Given the description of an element on the screen output the (x, y) to click on. 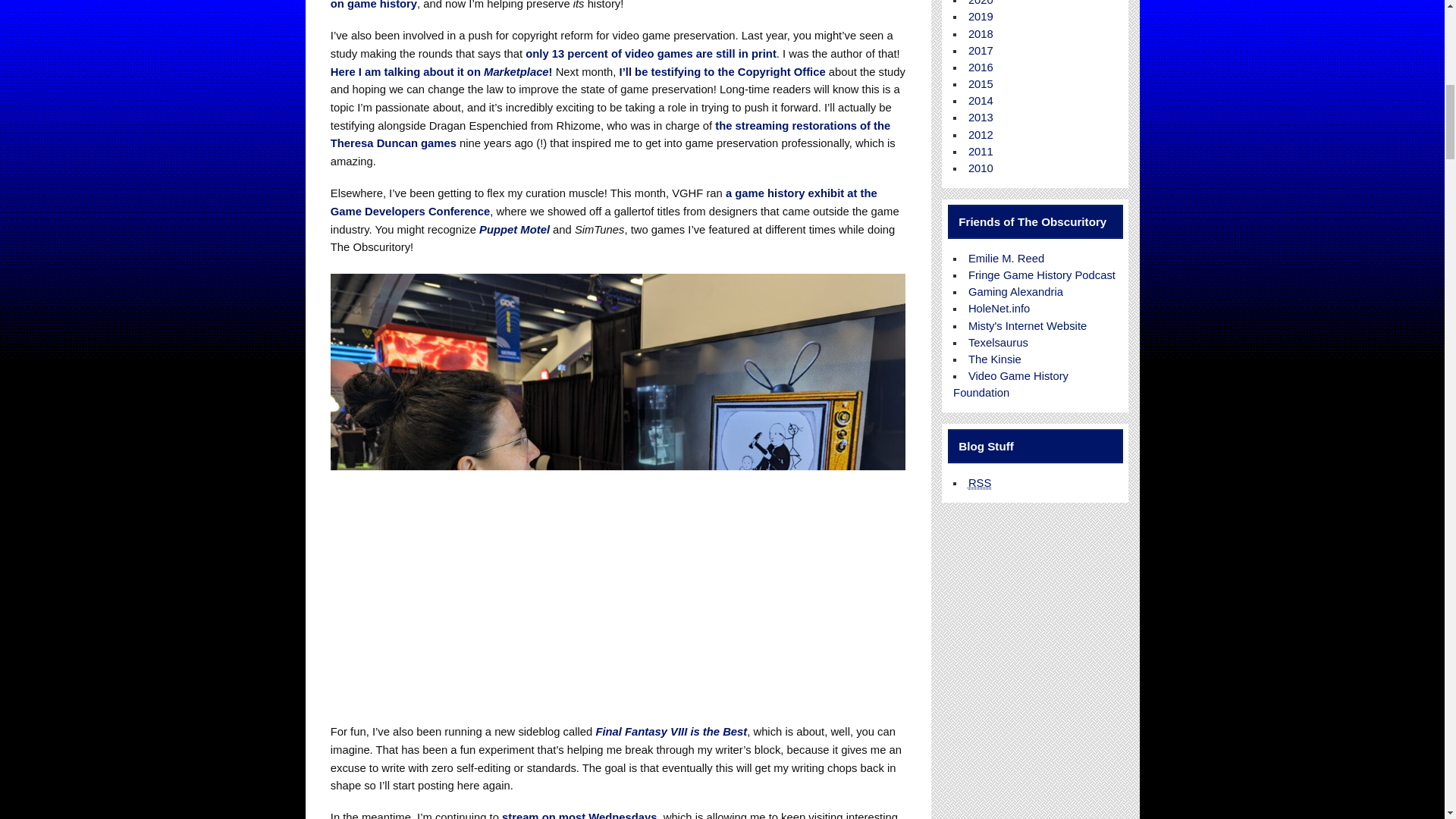
the streaming restorations of the Theresa Duncan games (610, 134)
Puppet Motel (514, 228)
the influence Myst has had on game history (611, 4)
Here I am talking about it on Marketplace! (441, 71)
Final Fantasy VIII is the Best (670, 731)
only 13 percent of video games are still in print (650, 53)
stream on most Wednesdays (579, 815)
a game history exhibit at the Game Developers Conference (603, 202)
